Given the description of an element on the screen output the (x, y) to click on. 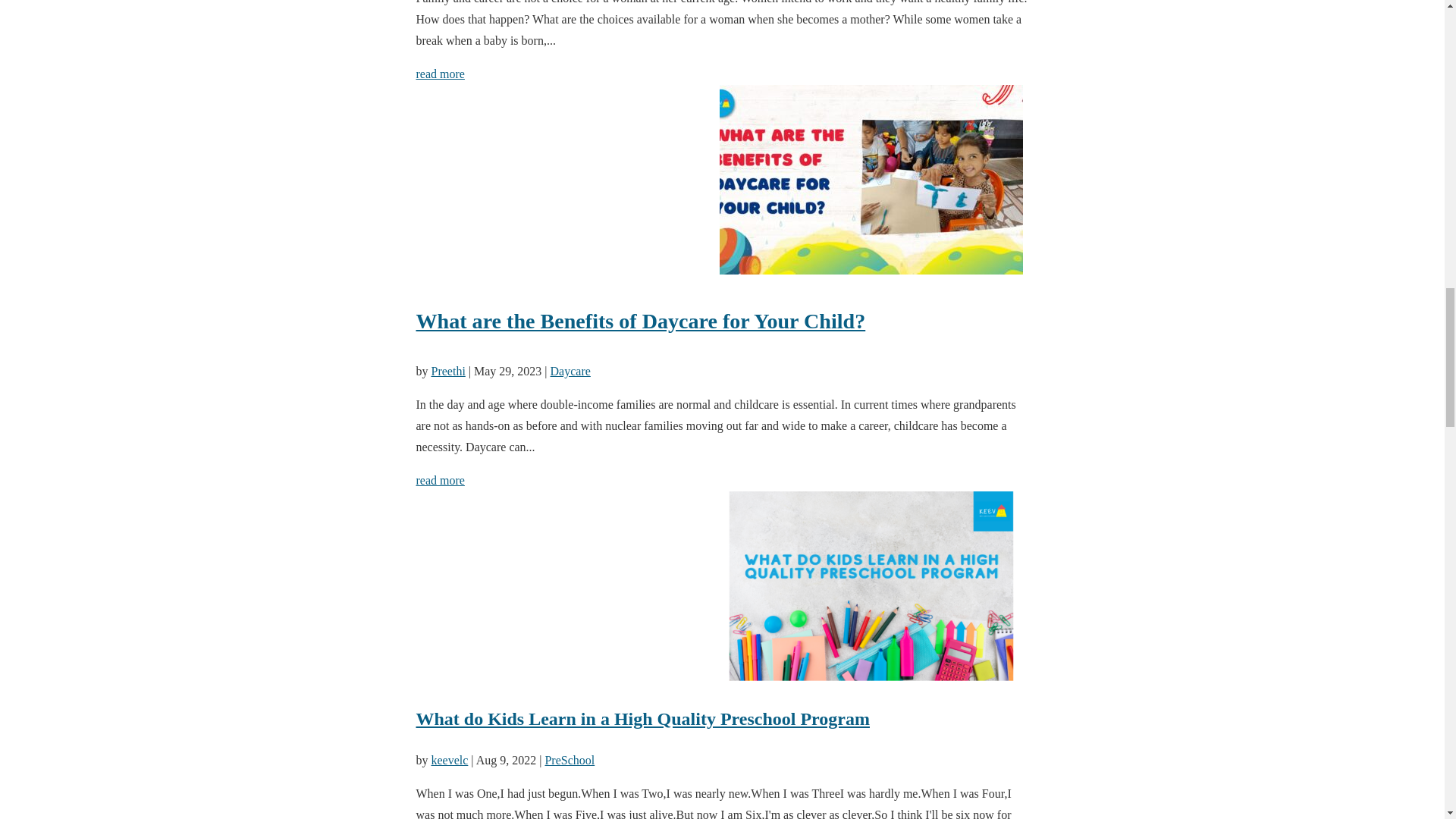
Preethi (447, 370)
keevelc (448, 759)
read more (439, 73)
Posts by keevelc (448, 759)
What are the Benefits of Daycare for Your Child? (720, 320)
What do Kids Learn in a High Quality Preschool Program (641, 718)
PreSchool (569, 759)
Daycare (570, 370)
Posts by Preethi (447, 370)
read more (439, 480)
